Given the description of an element on the screen output the (x, y) to click on. 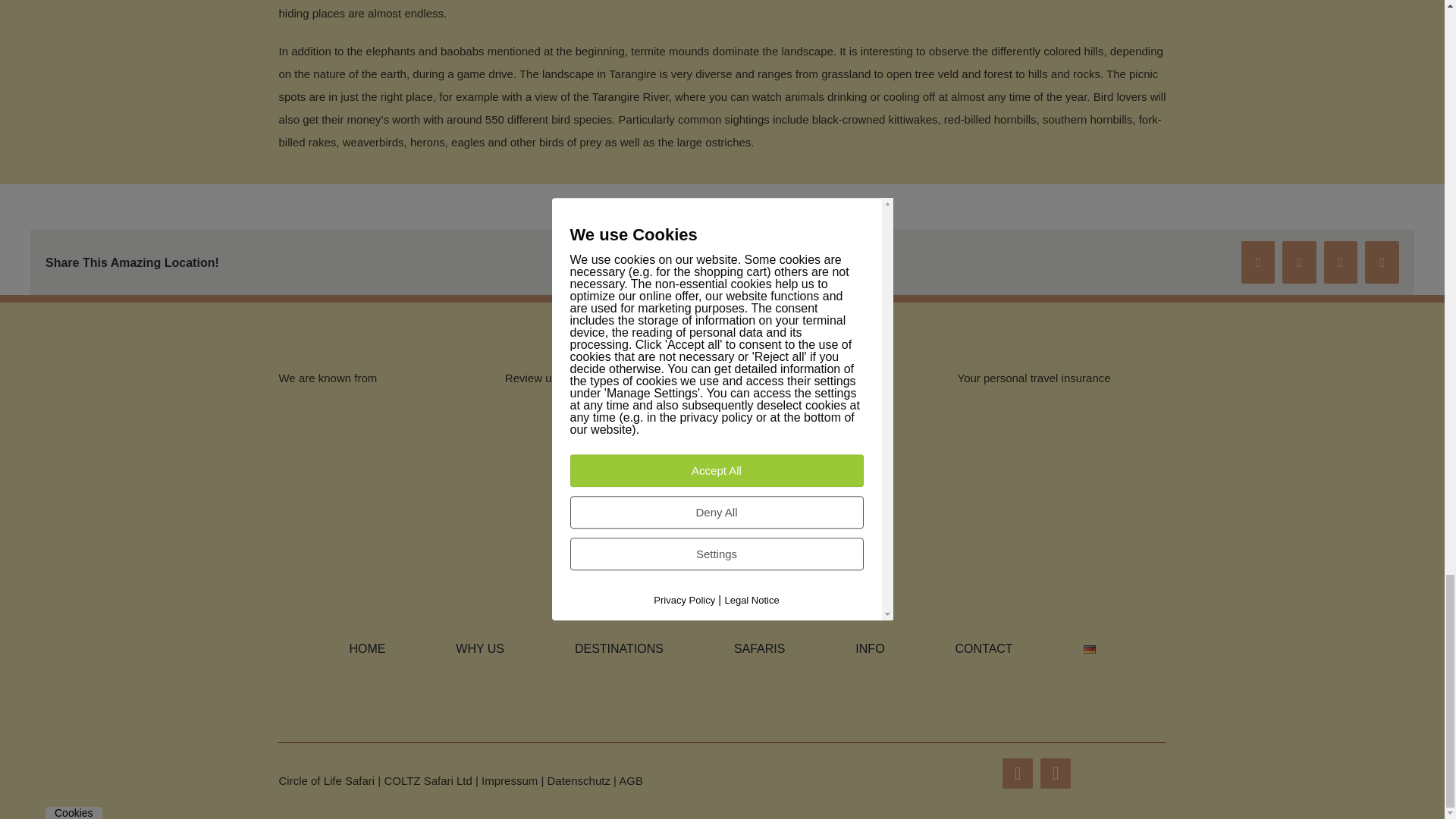
SAFARIS (759, 648)
DESTINATIONS (619, 648)
WHY US (479, 648)
